Given the description of an element on the screen output the (x, y) to click on. 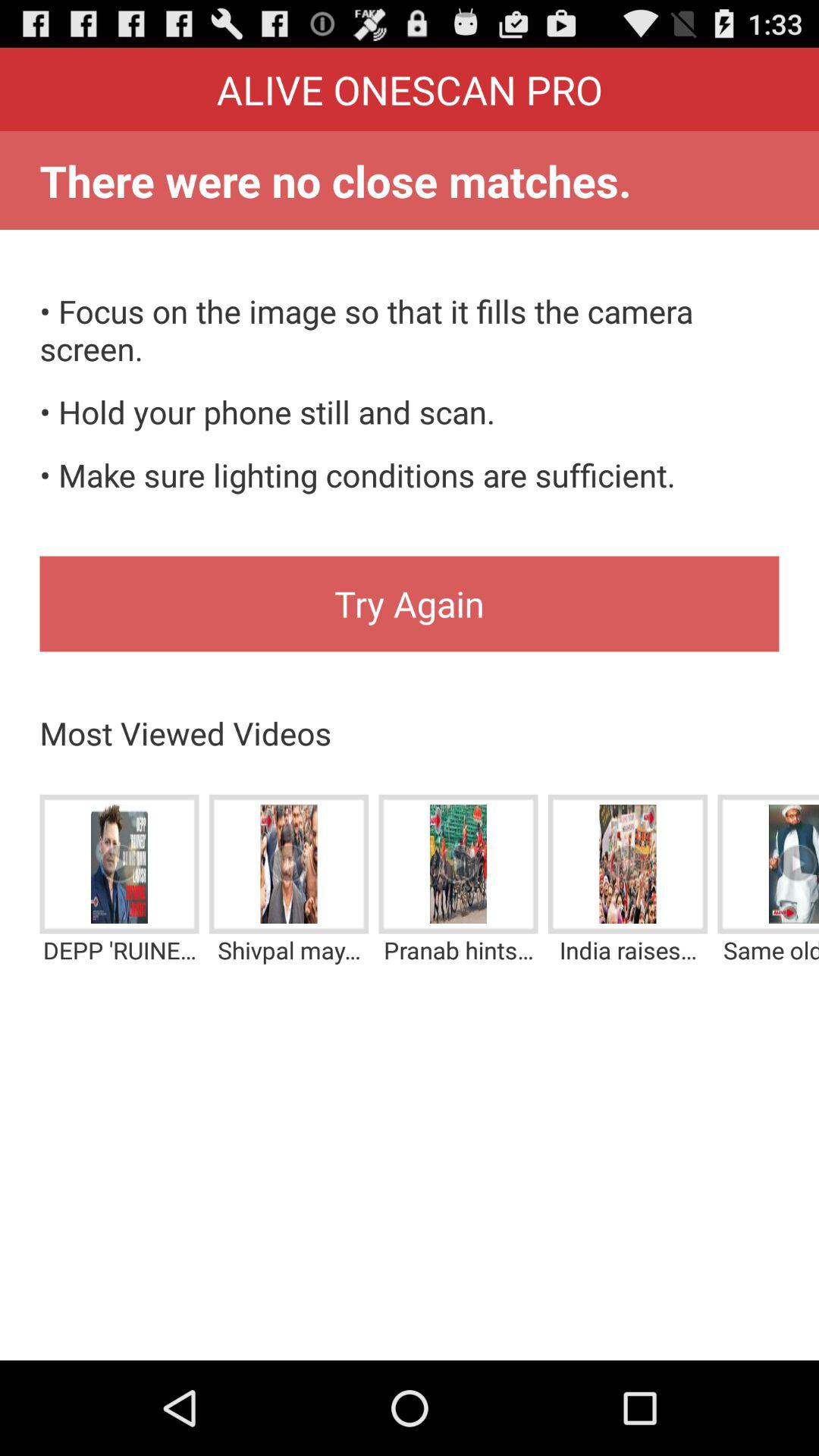
click the icon below the depp ruined by (409, 1320)
